Given the description of an element on the screen output the (x, y) to click on. 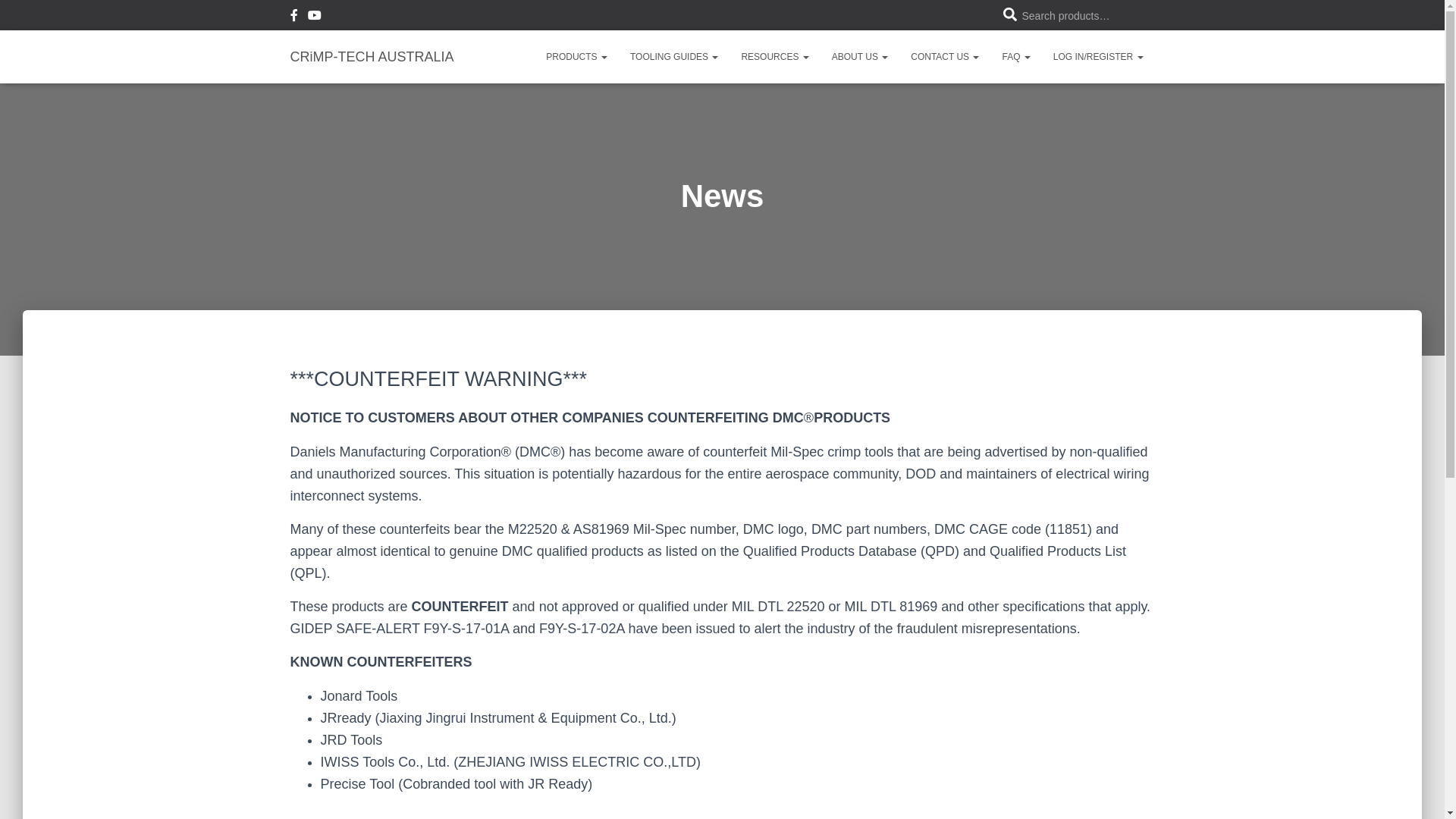
CRiMP-TECH AUSTRALIA Element type: text (372, 56)
FAQ Element type: text (1015, 56)
Facebook Element type: text (293, 17)
ABOUT US Element type: text (859, 56)
PRODUCTS Element type: text (576, 56)
TOOLING GUIDES Element type: text (673, 56)
Search Element type: text (17, 24)
RESOURCES Element type: text (774, 56)
Youtube Element type: text (314, 17)
LOG IN/REGISTER Element type: text (1097, 56)
CONTACT US Element type: text (944, 56)
